Given the description of an element on the screen output the (x, y) to click on. 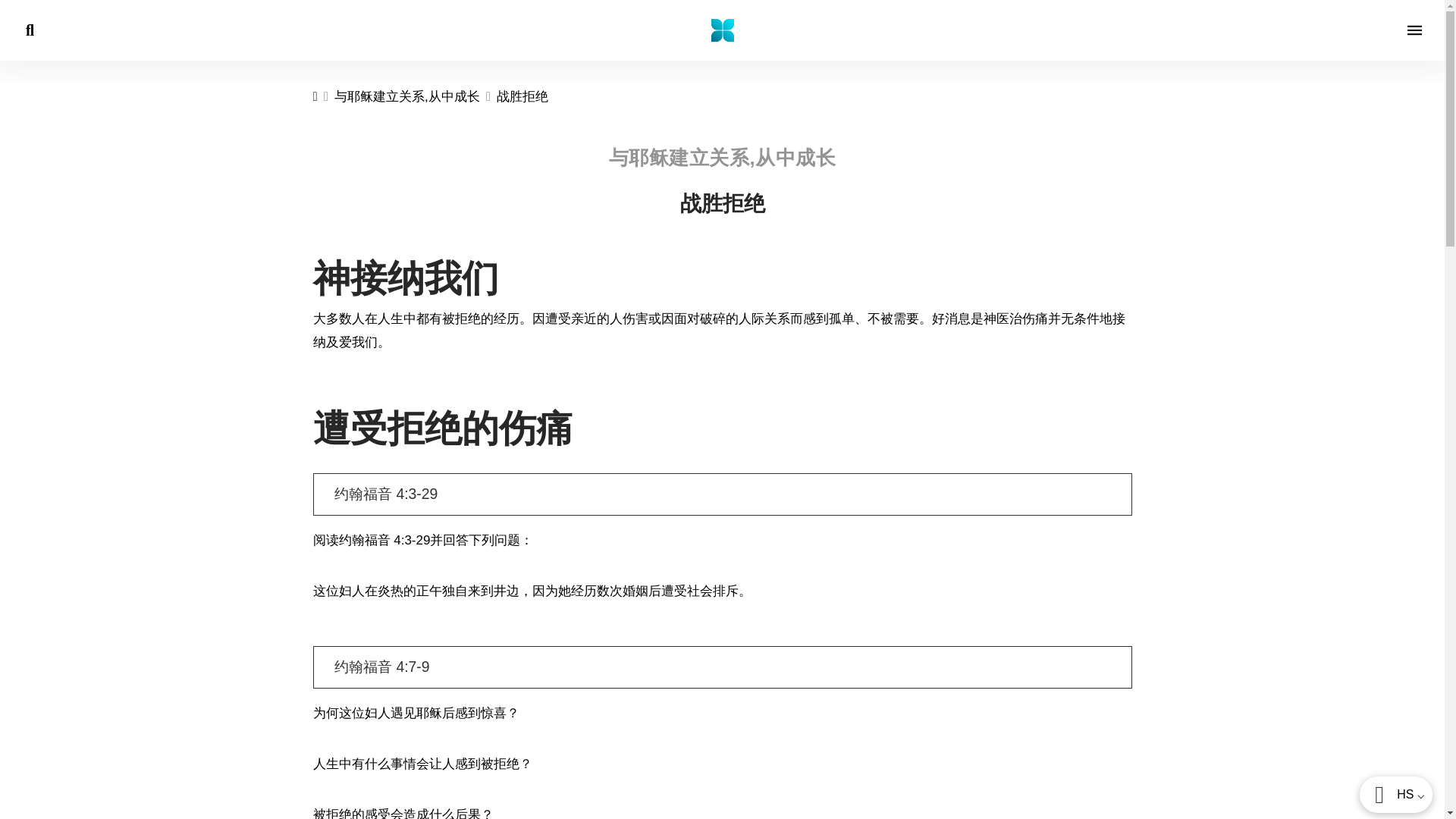
You Are Here (522, 96)
